Given the description of an element on the screen output the (x, y) to click on. 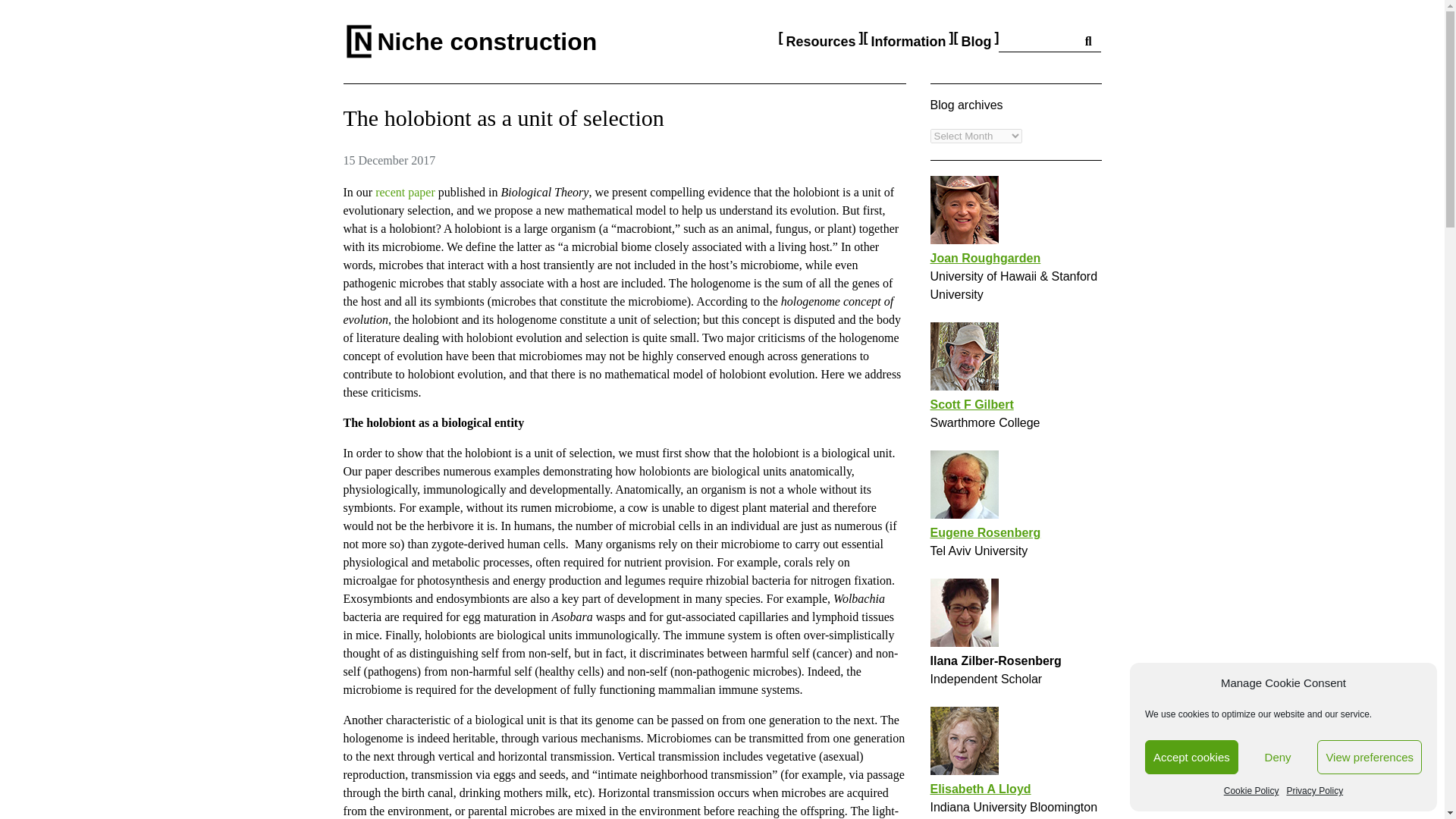
Search (1088, 41)
Niche construction (486, 41)
Search (1039, 41)
Cookie Policy (1251, 791)
recent paper (405, 192)
Deny (1278, 756)
Resources (820, 41)
View preferences (1369, 756)
Scott F Gilbert (971, 404)
Information (908, 41)
Privacy Policy (1313, 791)
Blog (975, 41)
Joan Roughgarden (985, 257)
Elisabeth A Lloyd (980, 788)
Accept cookies (1191, 756)
